Given the description of an element on the screen output the (x, y) to click on. 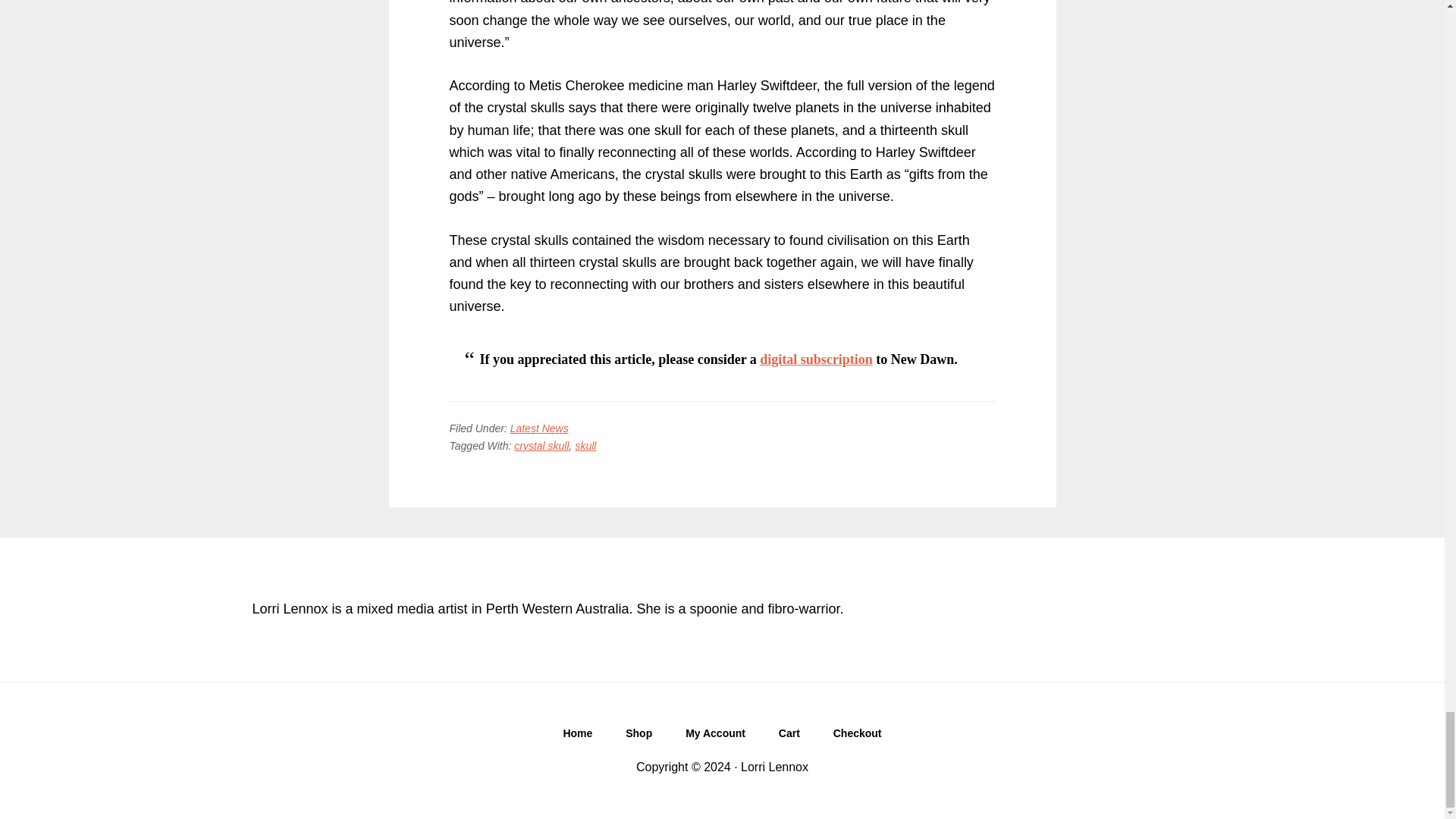
Latest News (540, 428)
Home (577, 737)
skull (585, 445)
Cart (788, 737)
Shop (638, 737)
digital subscription (816, 359)
crystal skull (541, 445)
Checkout (857, 737)
My Account (714, 737)
